Given the description of an element on the screen output the (x, y) to click on. 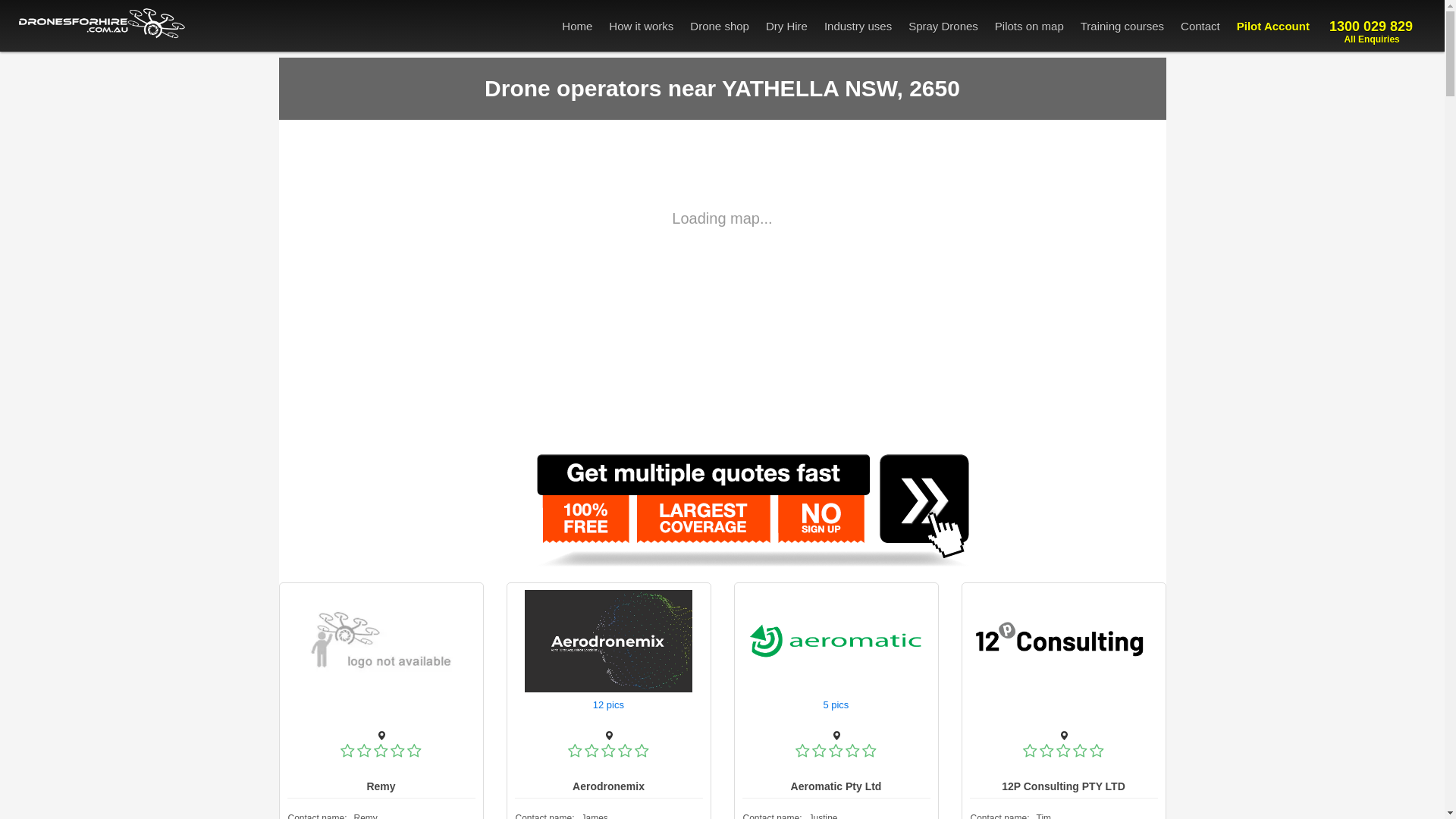
 5 pics  Element type: text (837, 704)
Contact Element type: text (1200, 22)
Not rated yet! Element type: hover (1046, 750)
  Element type: text (586, 704)
Not rated yet! Element type: hover (1063, 752)
Pilots on map Element type: text (1029, 22)
Not rated yet! Element type: hover (819, 750)
Home Element type: text (576, 22)
Not rated yet! Element type: hover (1080, 750)
Spray Drones Element type: text (943, 22)
Drone shop Element type: text (719, 22)
Not rated yet! Element type: hover (347, 750)
Not rated yet! Element type: hover (1063, 750)
Not rated yet! Element type: hover (835, 750)
Not rated yet! Element type: hover (1029, 750)
Not rated yet! Element type: hover (380, 752)
  Element type: text (1061, 704)
Pilot Account Element type: text (1272, 22)
Not rated yet! Element type: hover (608, 752)
Aeromatic Pty Ltd Element type: text (835, 786)
Not rated yet! Element type: hover (364, 750)
1300 029 829
  All Enquiries Element type: text (1369, 25)
  Element type: text (817, 704)
Industry uses Element type: text (858, 22)
12P Consulting PTY LTD Element type: text (1063, 786)
Not rated yet! Element type: hover (380, 750)
  Element type: text (379, 704)
How it works Element type: text (640, 22)
Not rated yet! Element type: hover (591, 750)
Not rated yet! Element type: hover (574, 750)
Not rated yet! Element type: hover (641, 750)
Not rated yet! Element type: hover (608, 750)
Not rated yet! Element type: hover (802, 750)
Not rated yet! Element type: hover (835, 752)
Not rated yet! Element type: hover (869, 750)
Not rated yet! Element type: hover (414, 750)
Aerodronemix Element type: text (608, 786)
Not rated yet! Element type: hover (397, 750)
Dry Hire Element type: text (786, 22)
 12 pics  Element type: text (609, 704)
Not rated yet! Element type: hover (852, 750)
Not rated yet! Element type: hover (625, 750)
Training courses Element type: text (1122, 22)
Not rated yet! Element type: hover (1096, 750)
Remy Element type: text (380, 786)
